Given the description of an element on the screen output the (x, y) to click on. 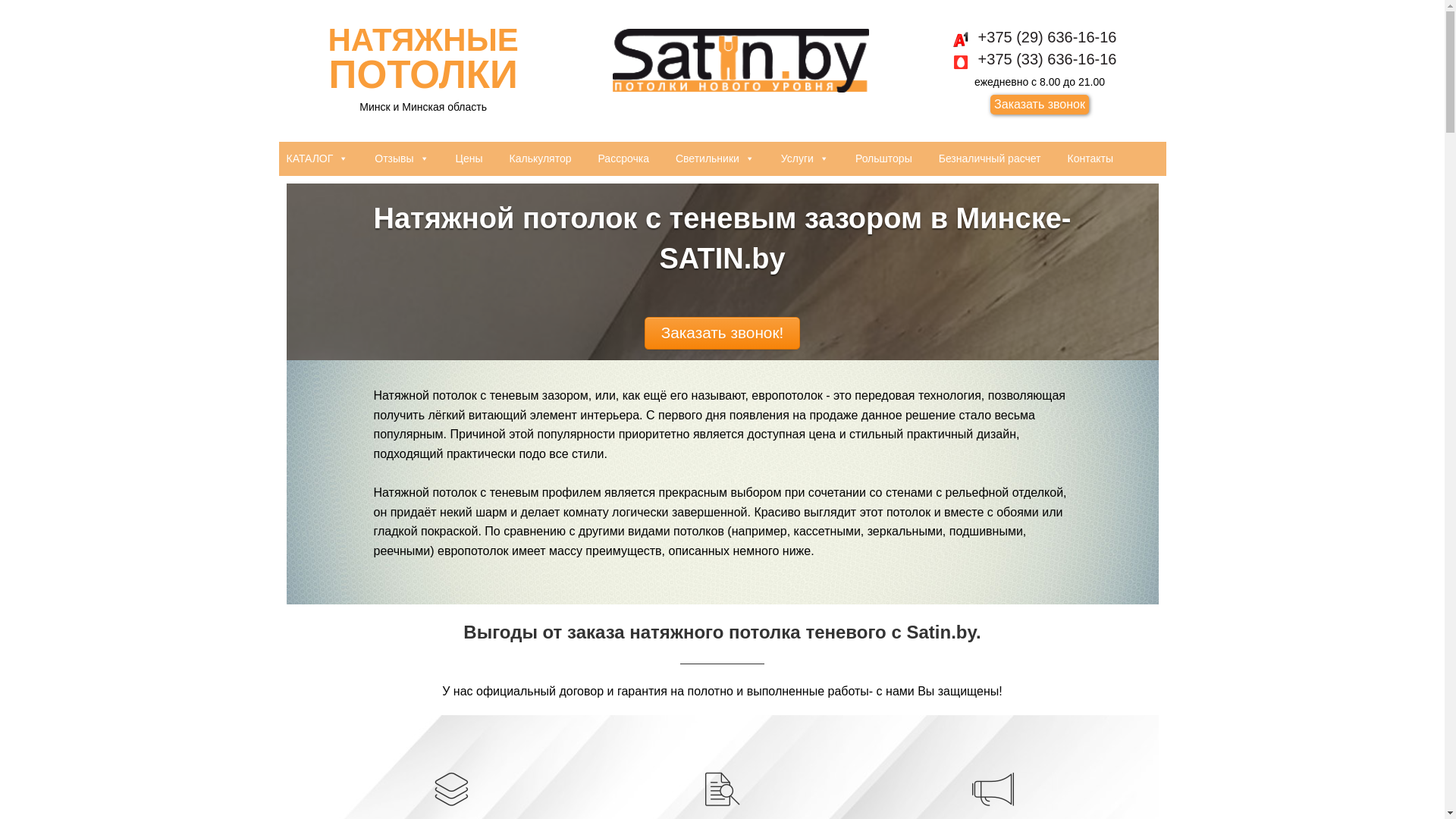
+375 (33) 636-16-16 Element type: text (1040, 58)
+375 (29) 636-16-16 Element type: text (1040, 36)
